Given the description of an element on the screen output the (x, y) to click on. 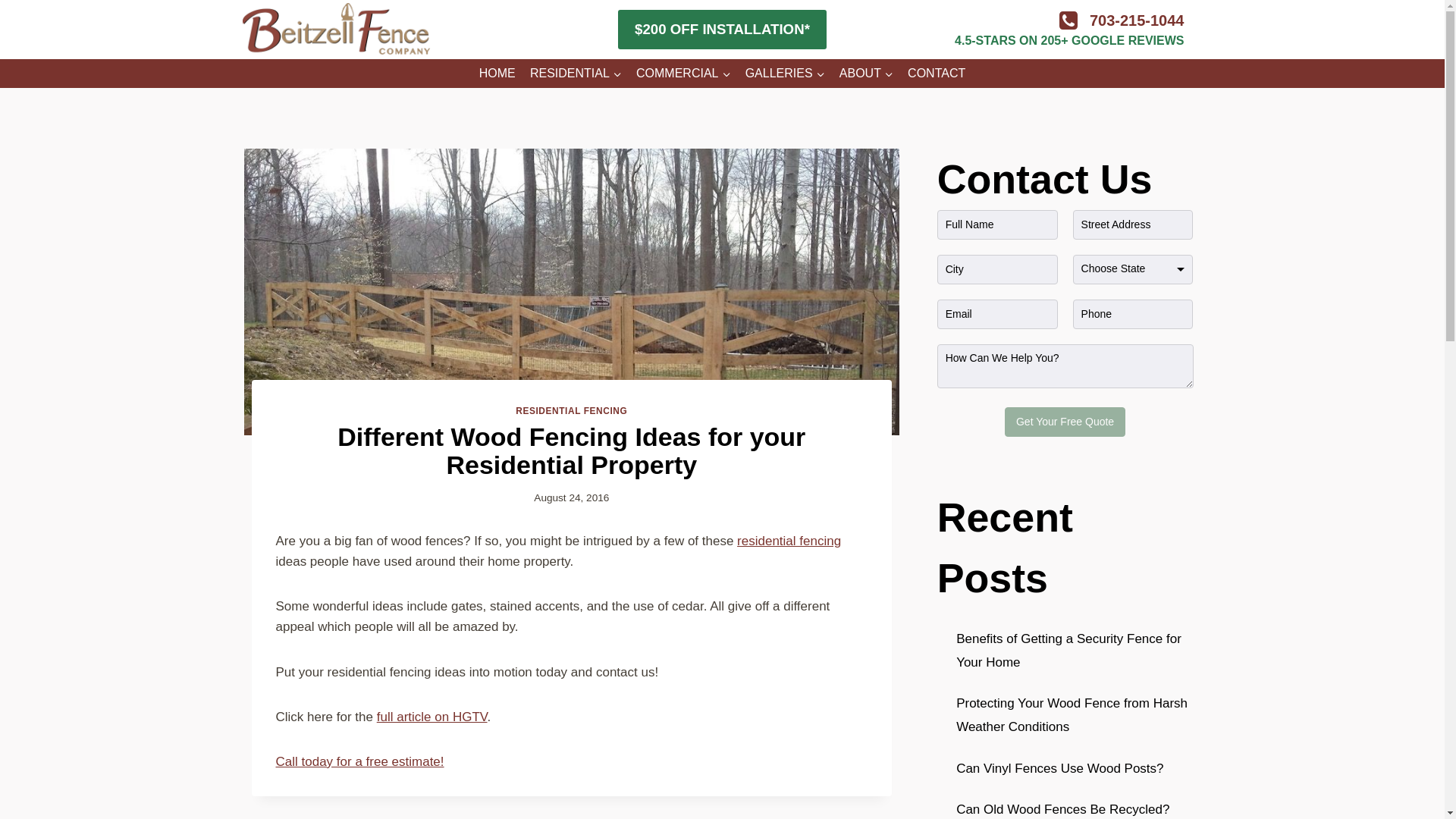
COMMERCIAL (683, 73)
RESIDENTIAL (575, 73)
GALLERIES (784, 73)
CONTACT (936, 73)
ABOUT (865, 73)
HOME (496, 73)
703-215-1044 (1137, 20)
